Given the description of an element on the screen output the (x, y) to click on. 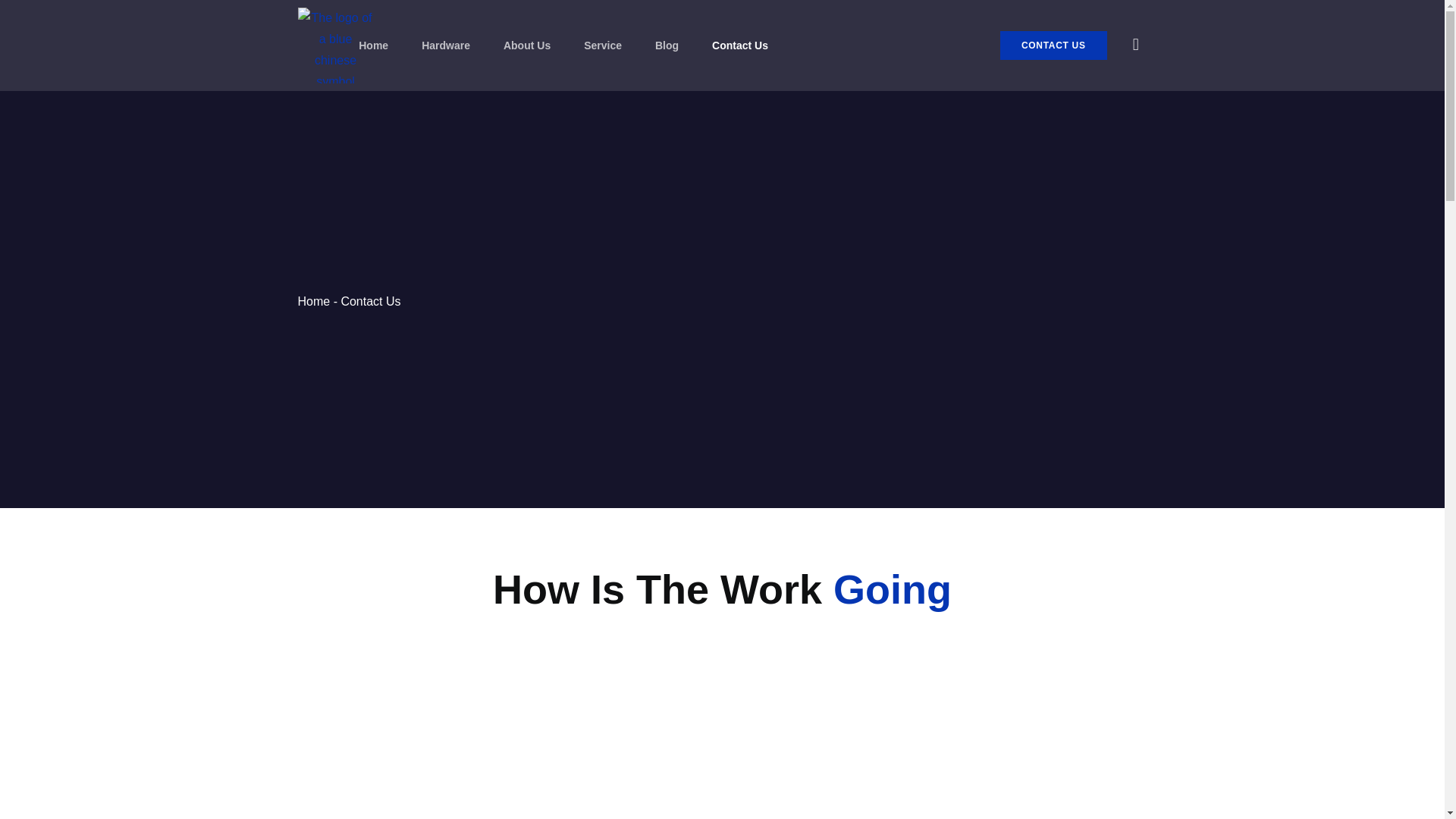
CONTACT US (1053, 45)
About Us (526, 45)
Home (373, 45)
Home (313, 300)
Service (602, 45)
Contact Us (739, 45)
Hardware (446, 45)
